Given the description of an element on the screen output the (x, y) to click on. 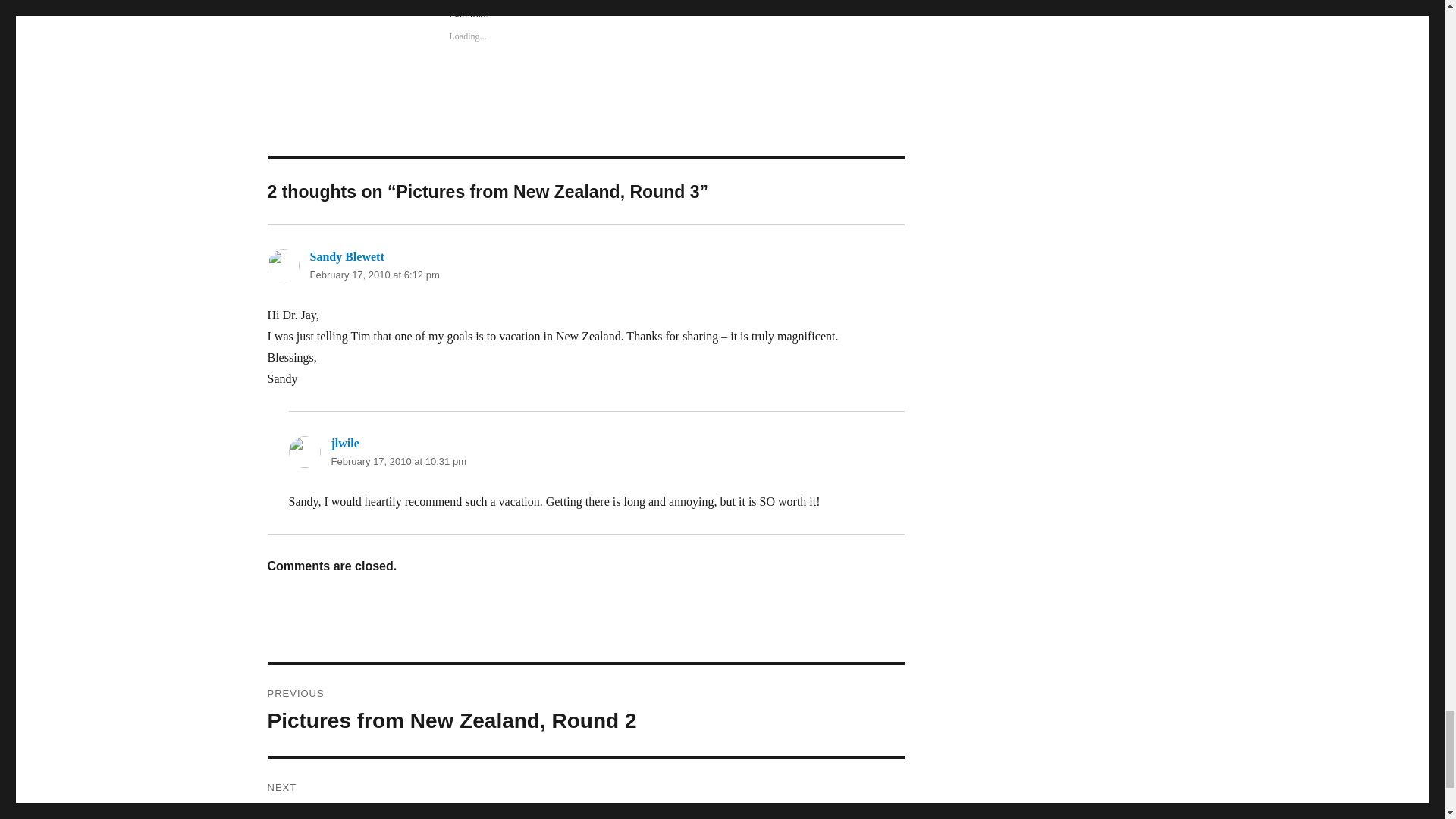
jlwile (344, 442)
February 17, 2010 at 10:31 pm (585, 710)
Sandy Blewett (397, 460)
February 17, 2010 at 6:12 pm (346, 256)
